Given the description of an element on the screen output the (x, y) to click on. 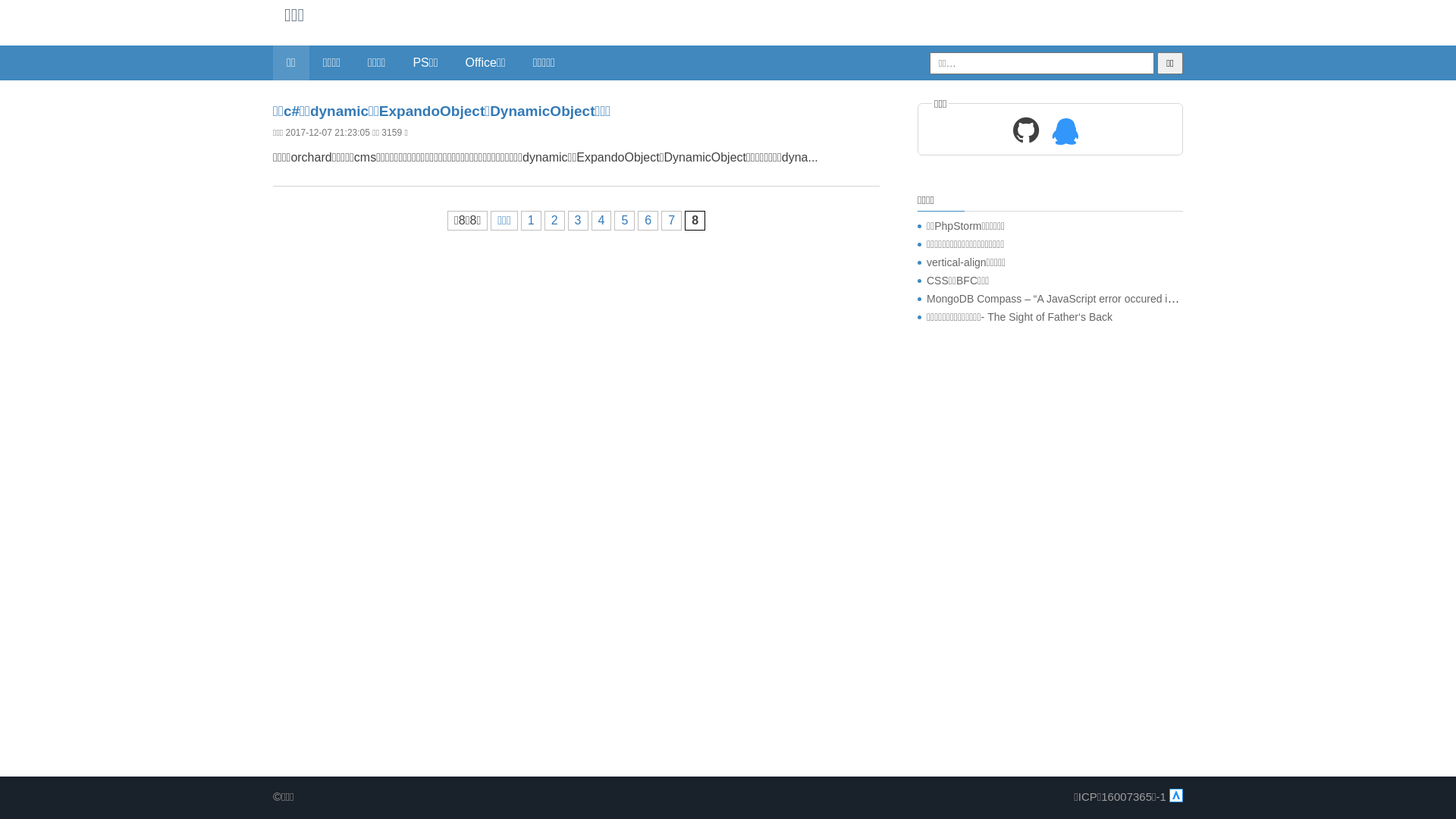
4 Element type: text (601, 220)
3 Element type: text (577, 220)
6 Element type: text (647, 220)
1 Element type: text (530, 220)
2 Element type: text (554, 220)
5 Element type: text (624, 220)
7 Element type: text (671, 220)
